Given the description of an element on the screen output the (x, y) to click on. 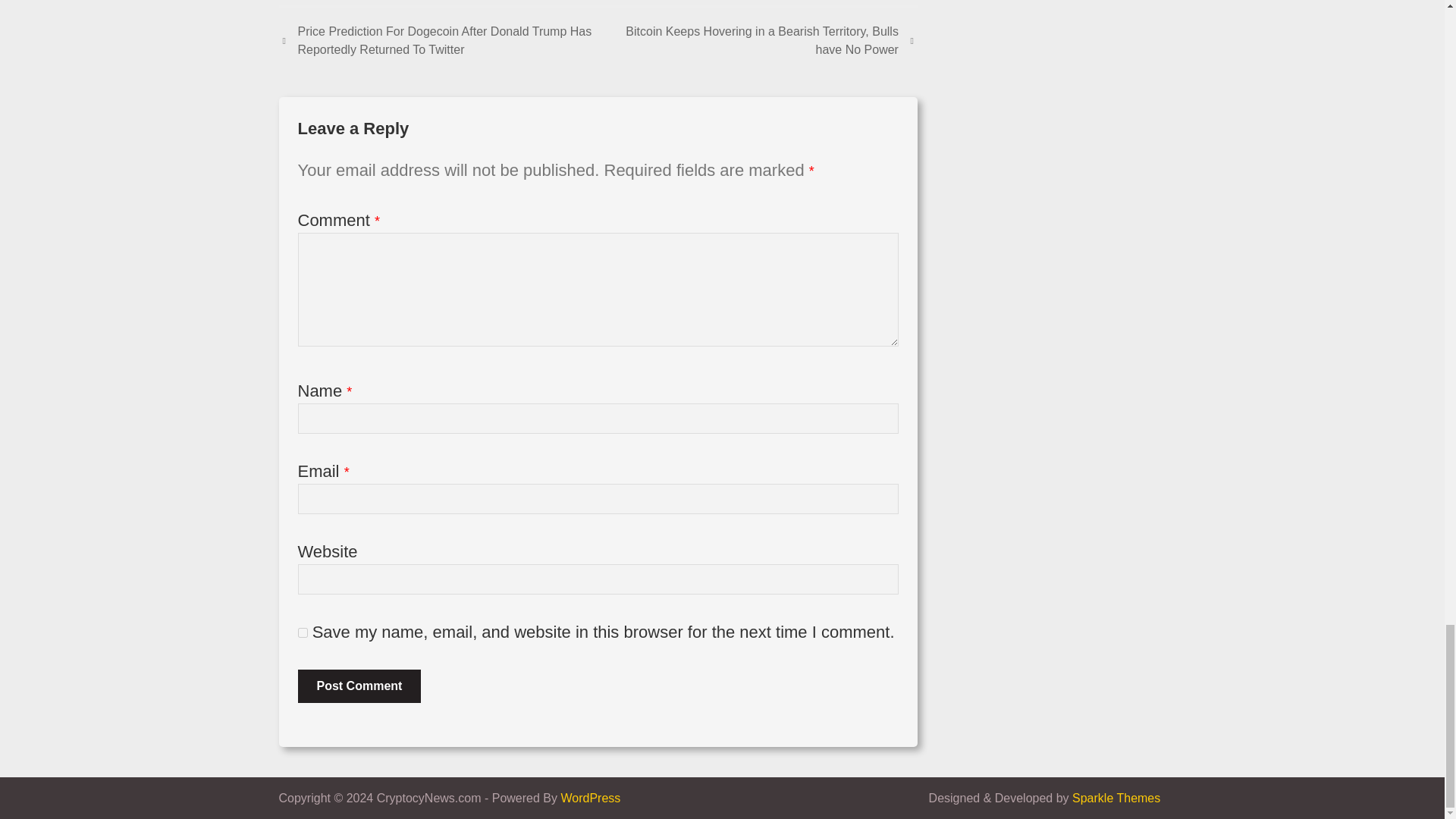
Post Comment (358, 685)
yes (302, 633)
